Given the description of an element on the screen output the (x, y) to click on. 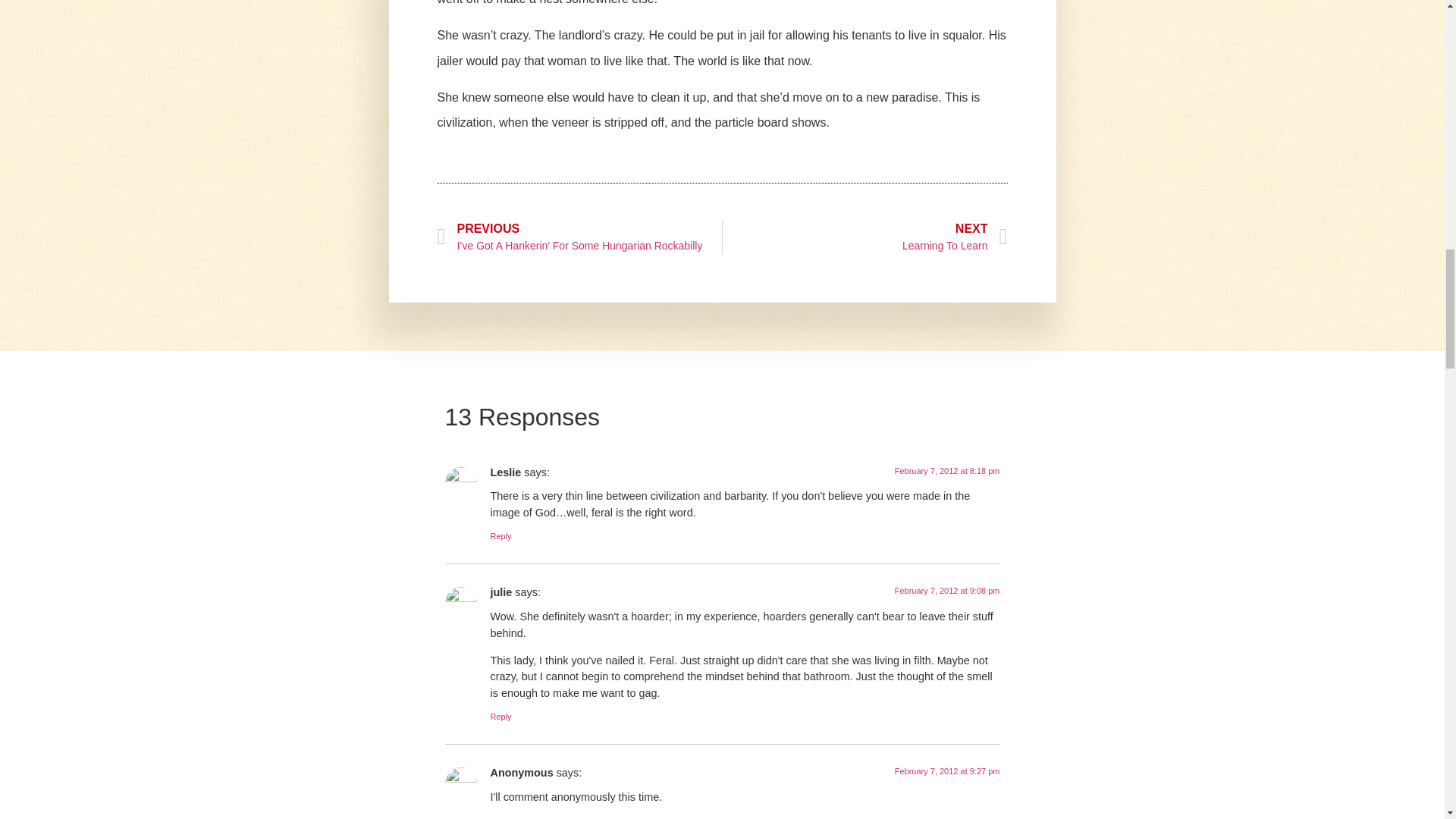
February 7, 2012 at 8:18 pm (947, 470)
February 7, 2012 at 9:27 pm (947, 770)
February 7, 2012 at 9:08 pm (947, 590)
Reply (500, 716)
Reply (500, 535)
